Given the description of an element on the screen output the (x, y) to click on. 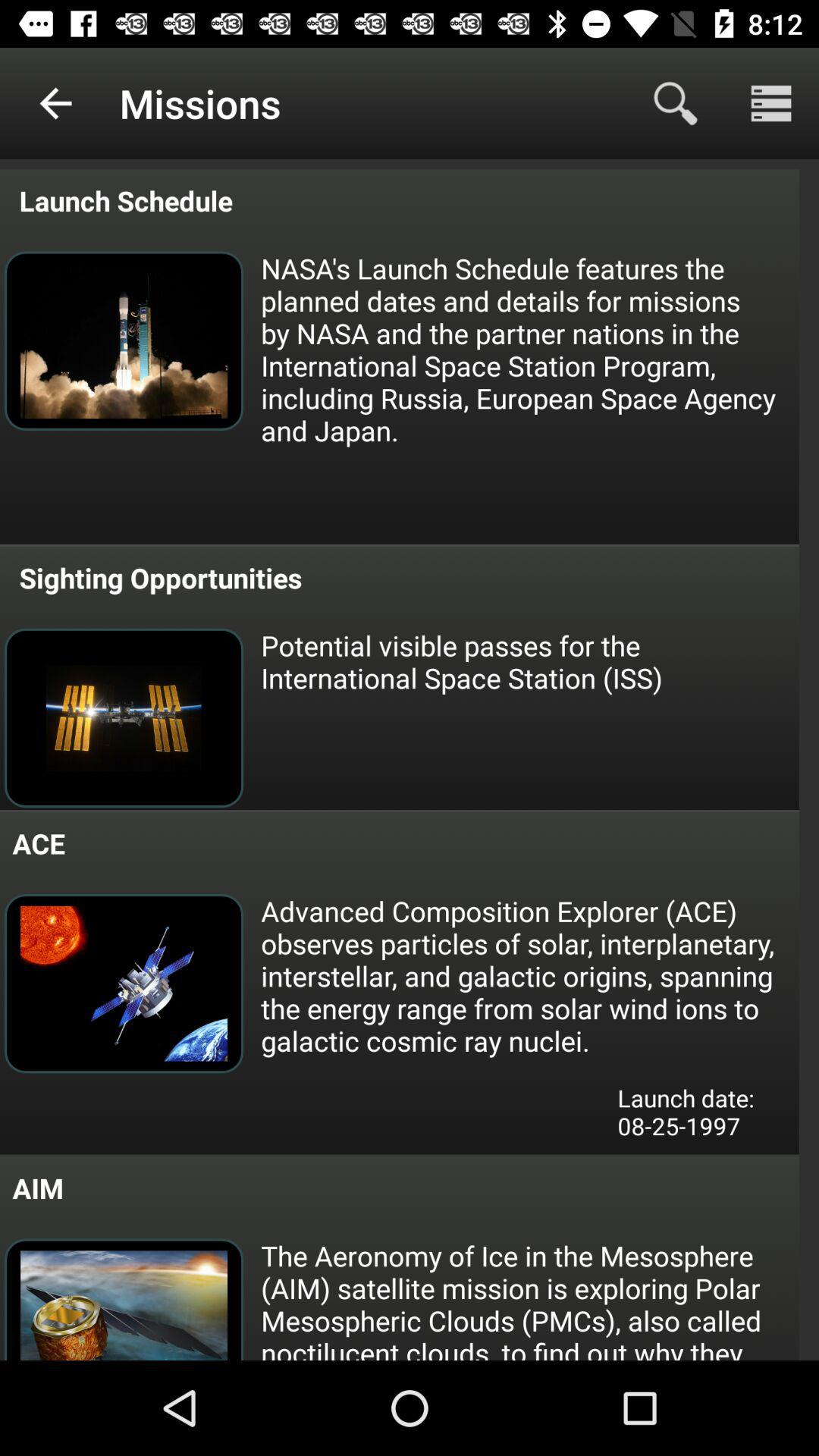
tap the potential visible passes (528, 661)
